Given the description of an element on the screen output the (x, y) to click on. 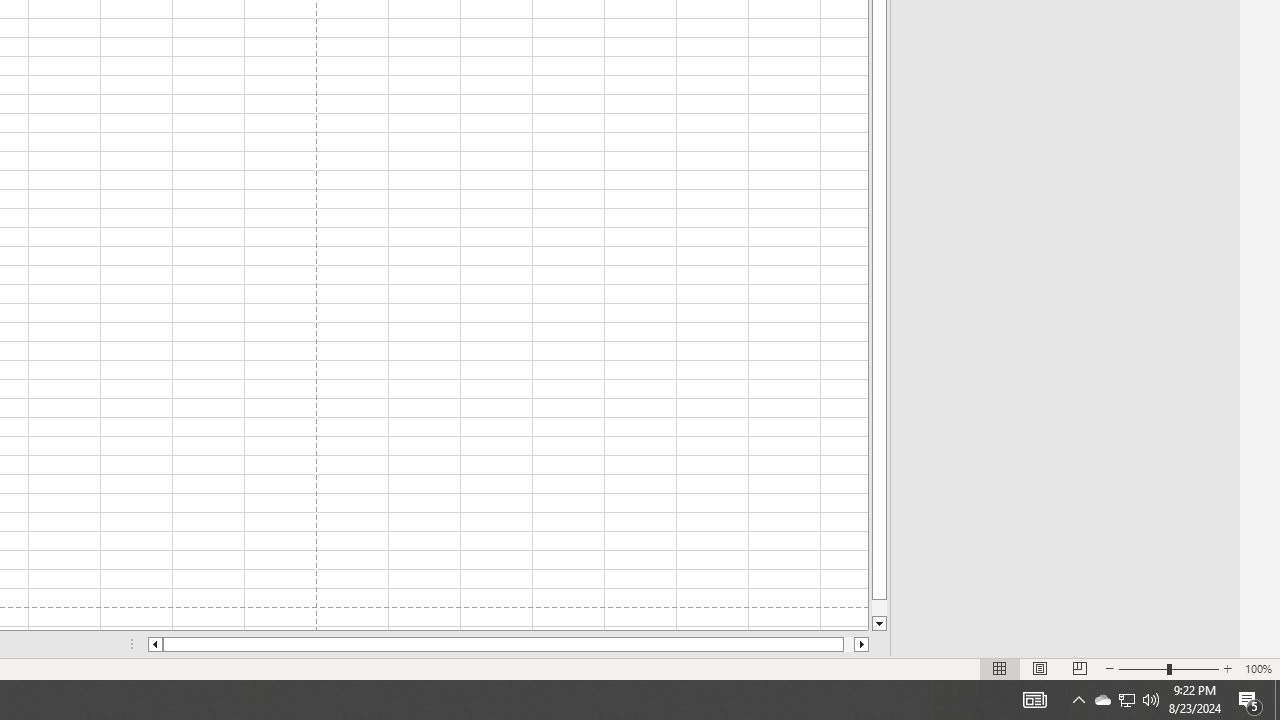
Action Center, 5 new notifications (1250, 699)
Q2790: 100% (1151, 699)
User Promoted Notification Area (1126, 699)
Notification Chevron (1126, 699)
AutomationID: 4105 (1078, 699)
